Given the description of an element on the screen output the (x, y) to click on. 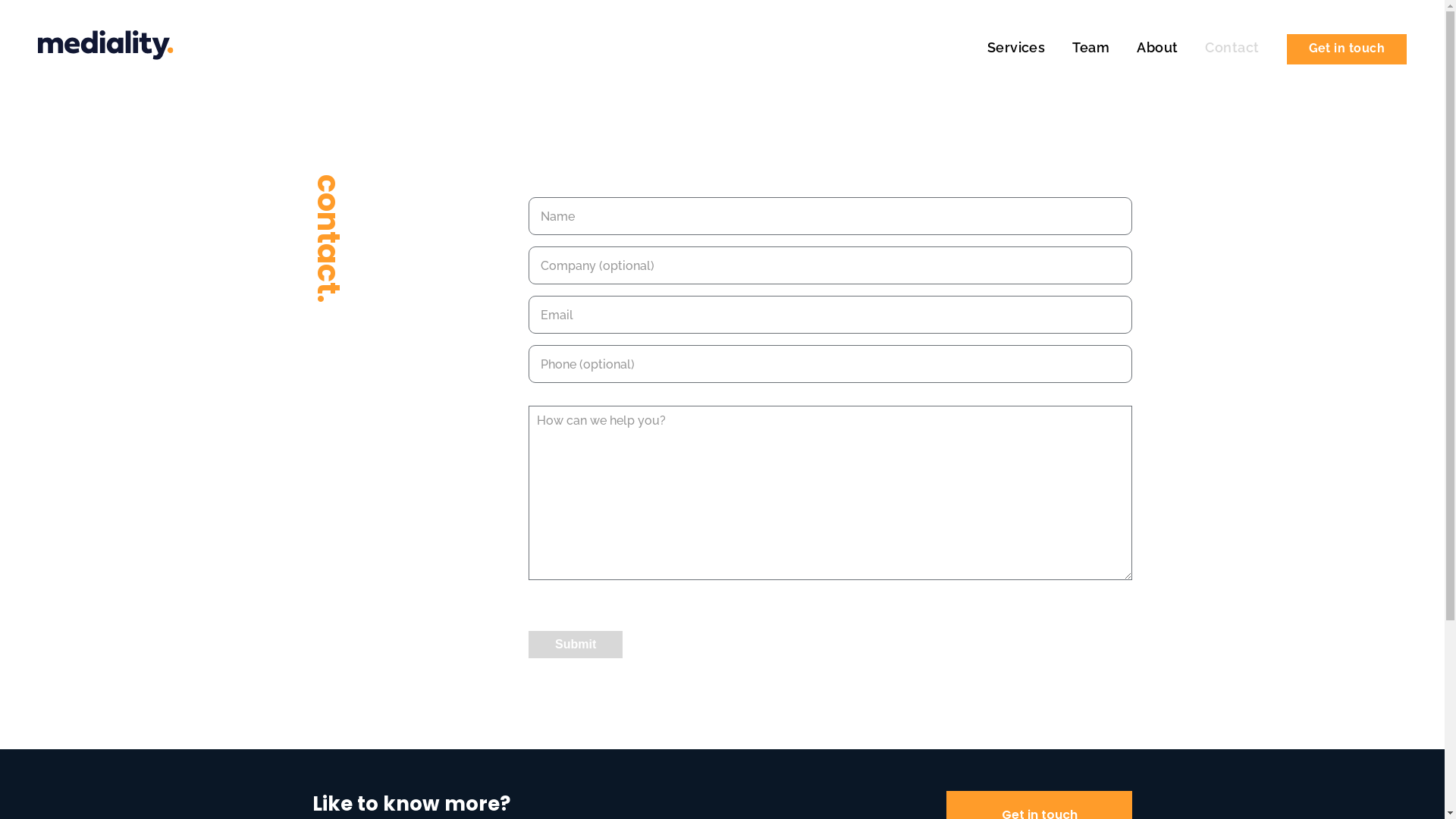
Contact Element type: text (1239, 47)
About Element type: text (1164, 47)
Submit Element type: text (575, 644)
Get in touch Element type: text (1346, 49)
Team Element type: text (1098, 47)
Services Element type: text (1023, 47)
Home Element type: hover (105, 48)
